Given the description of an element on the screen output the (x, y) to click on. 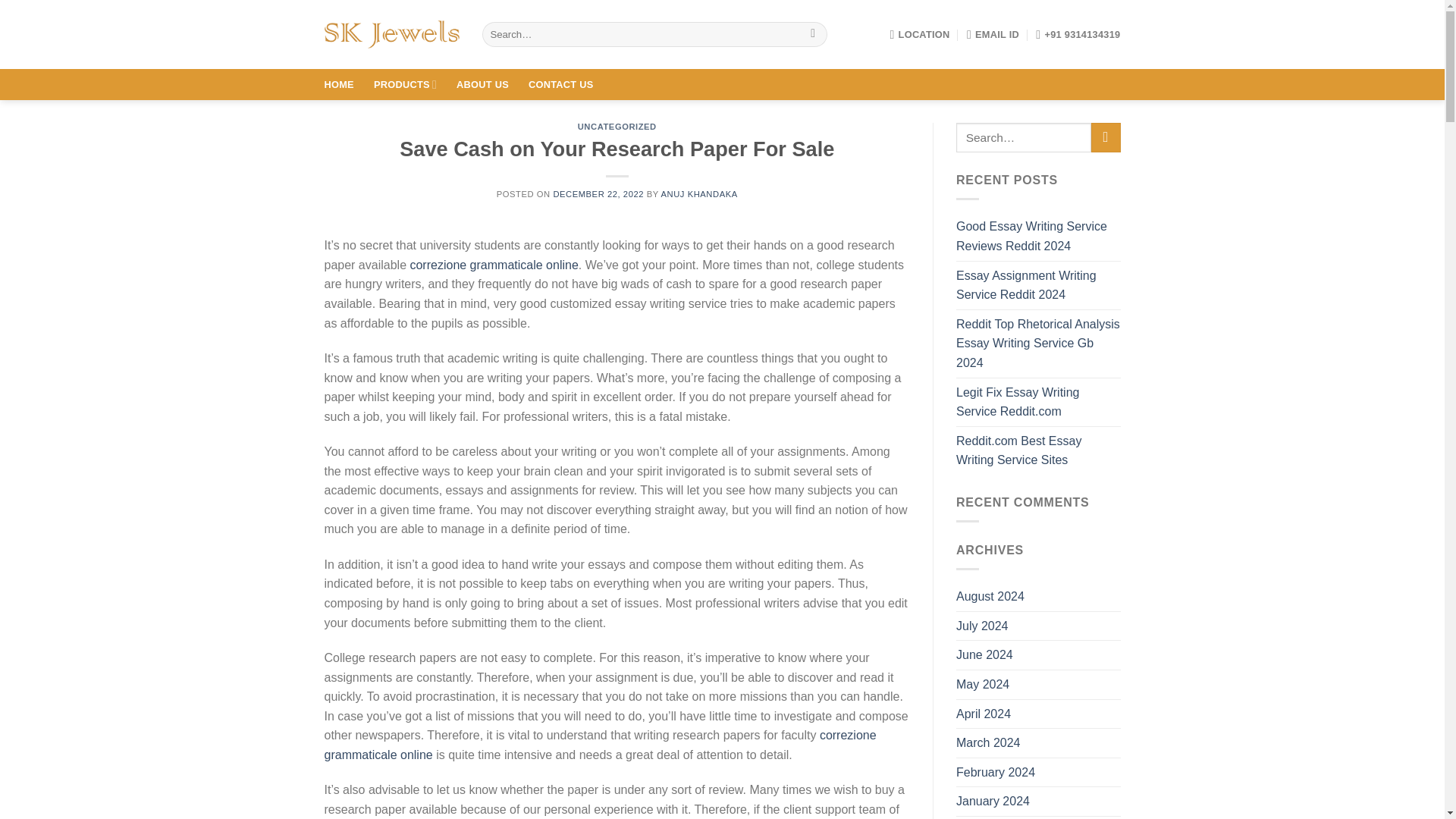
HOME (338, 83)
EMAIL ID (992, 34)
LOCATION (919, 34)
PRODUCTS (405, 83)
Search (812, 34)
